Given the description of an element on the screen output the (x, y) to click on. 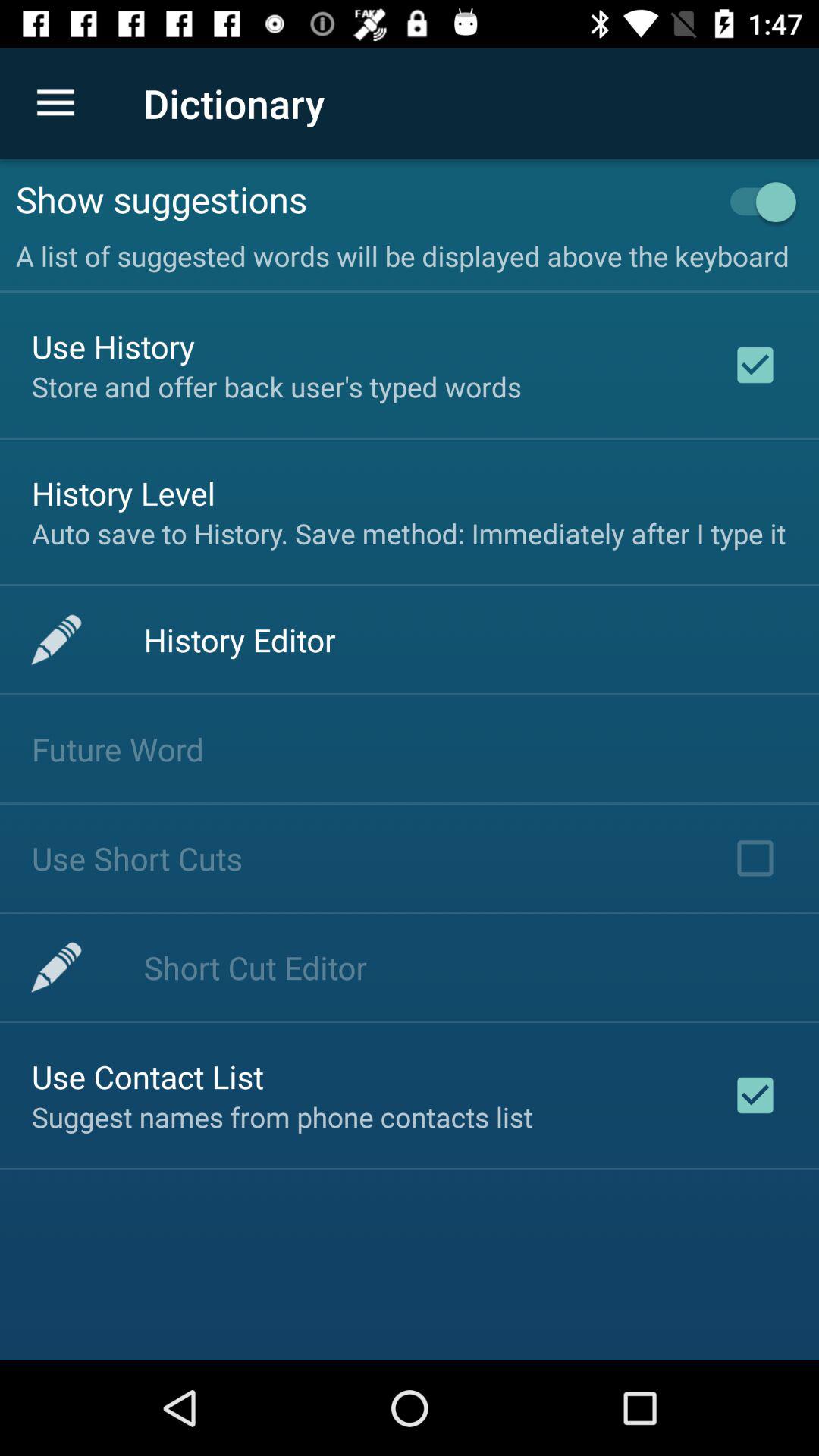
open the item above the auto save to icon (123, 492)
